Given the description of an element on the screen output the (x, y) to click on. 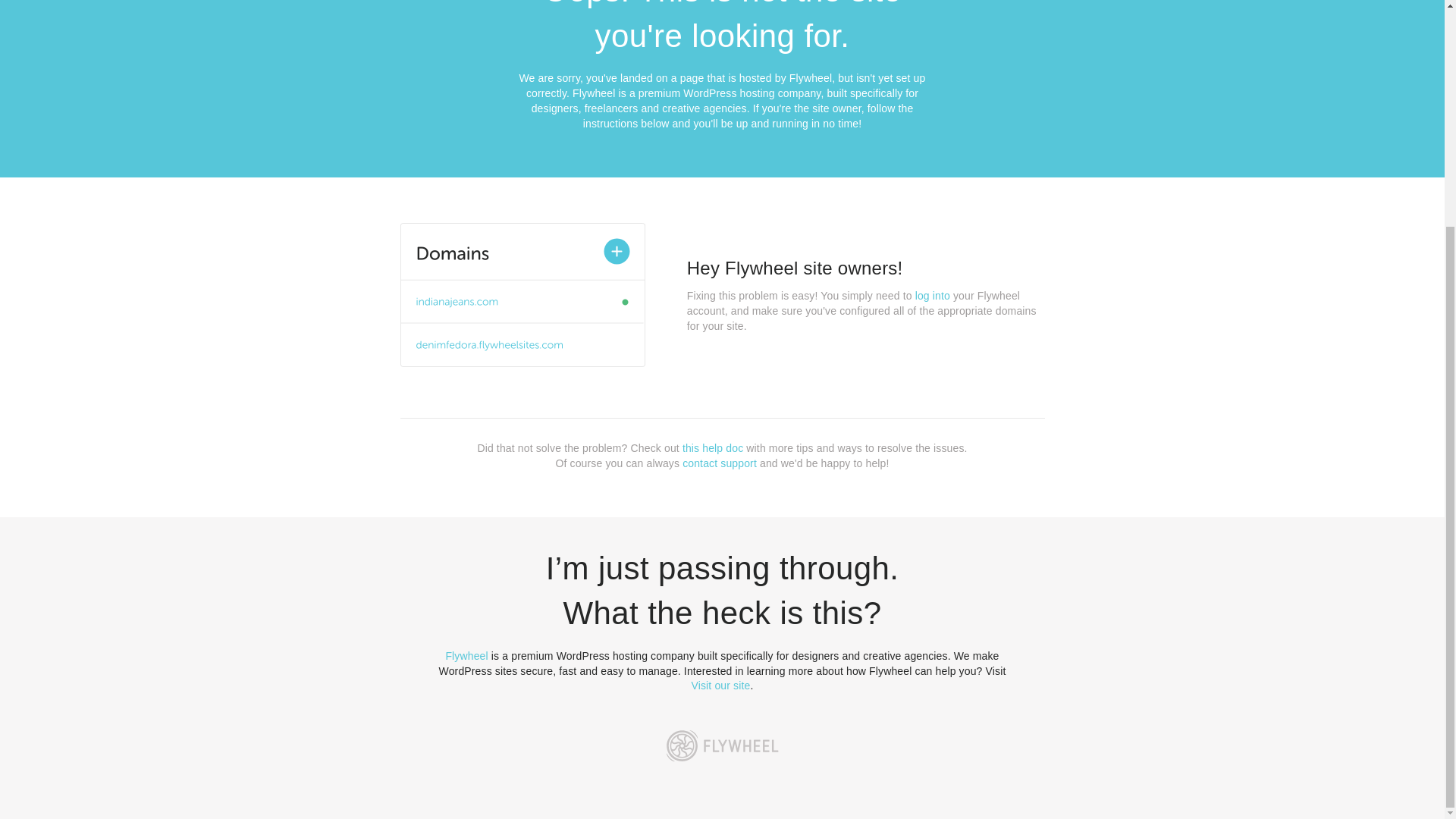
this help doc (712, 448)
Visit our site (721, 685)
Flywheel (466, 655)
log into (932, 295)
contact support (719, 463)
